Given the description of an element on the screen output the (x, y) to click on. 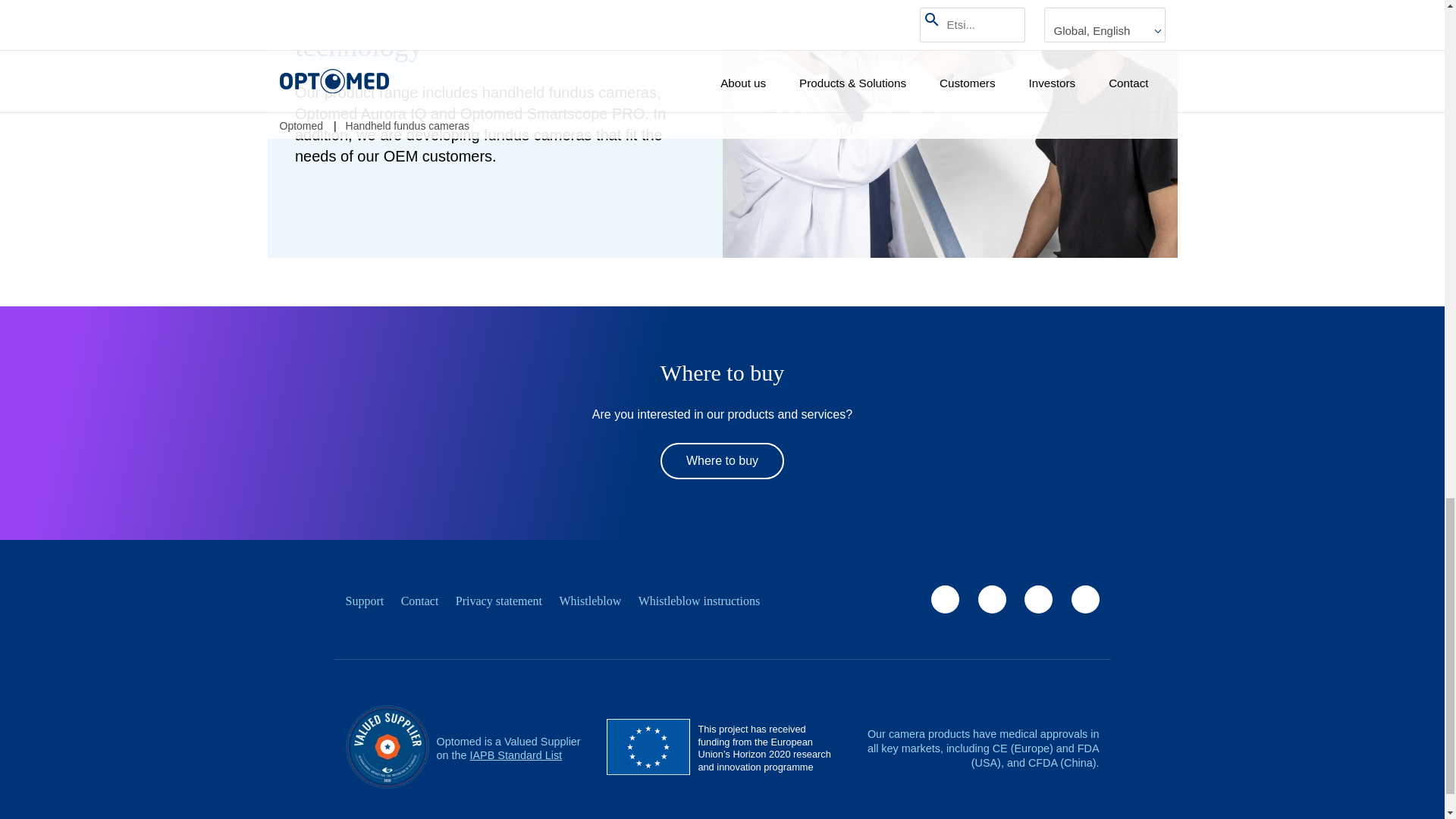
Twitter (991, 598)
YouTube (1038, 598)
LinkedIn (1085, 598)
Facebook (945, 598)
